Given the description of an element on the screen output the (x, y) to click on. 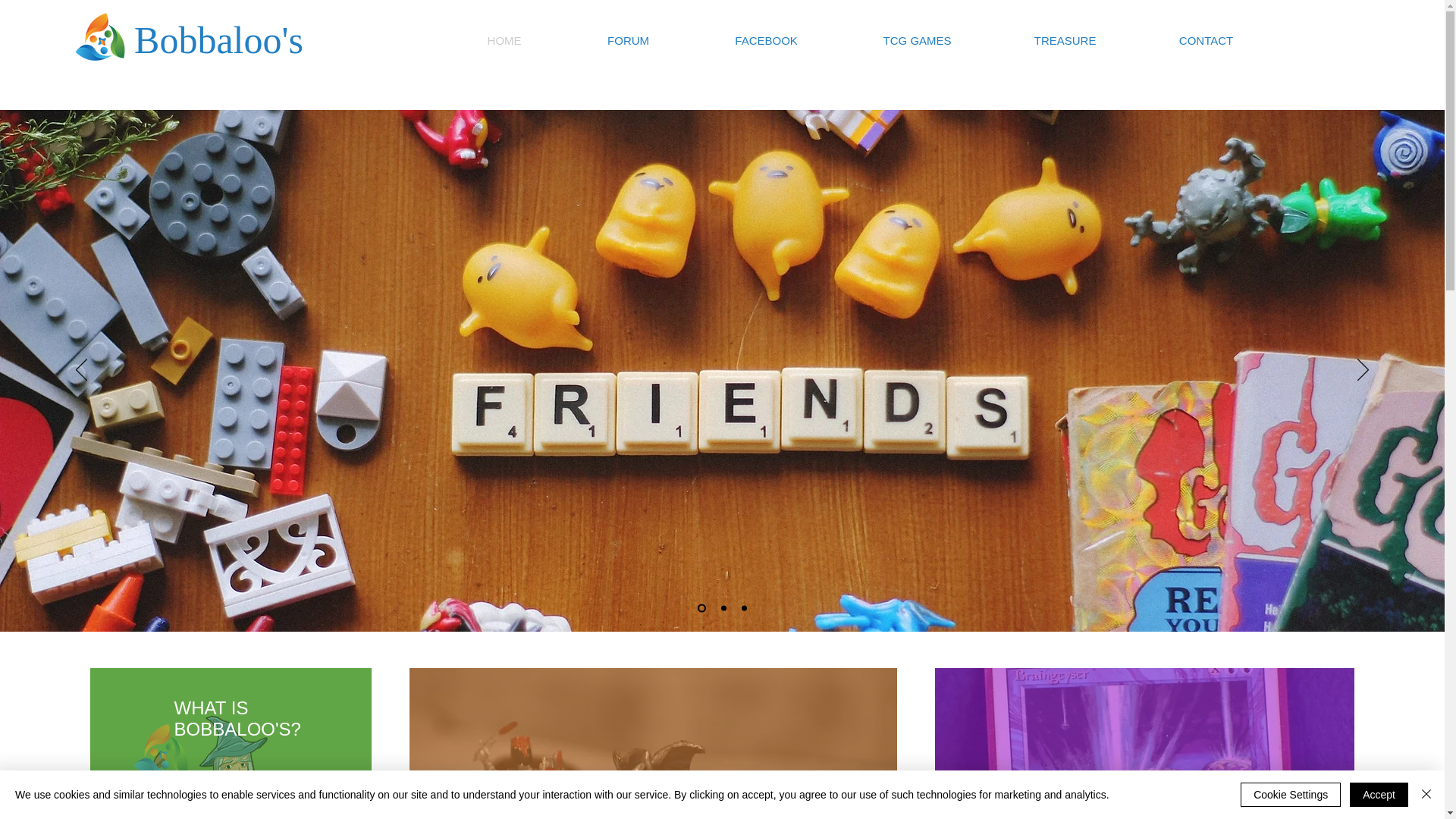
Cookie Settings (1290, 794)
TCG GAMES (917, 40)
TREASURE (1065, 40)
FORUM (628, 40)
HOME (504, 40)
CONTACT (1206, 40)
Accept (1378, 794)
Bobbaloo's (217, 39)
